Given the description of an element on the screen output the (x, y) to click on. 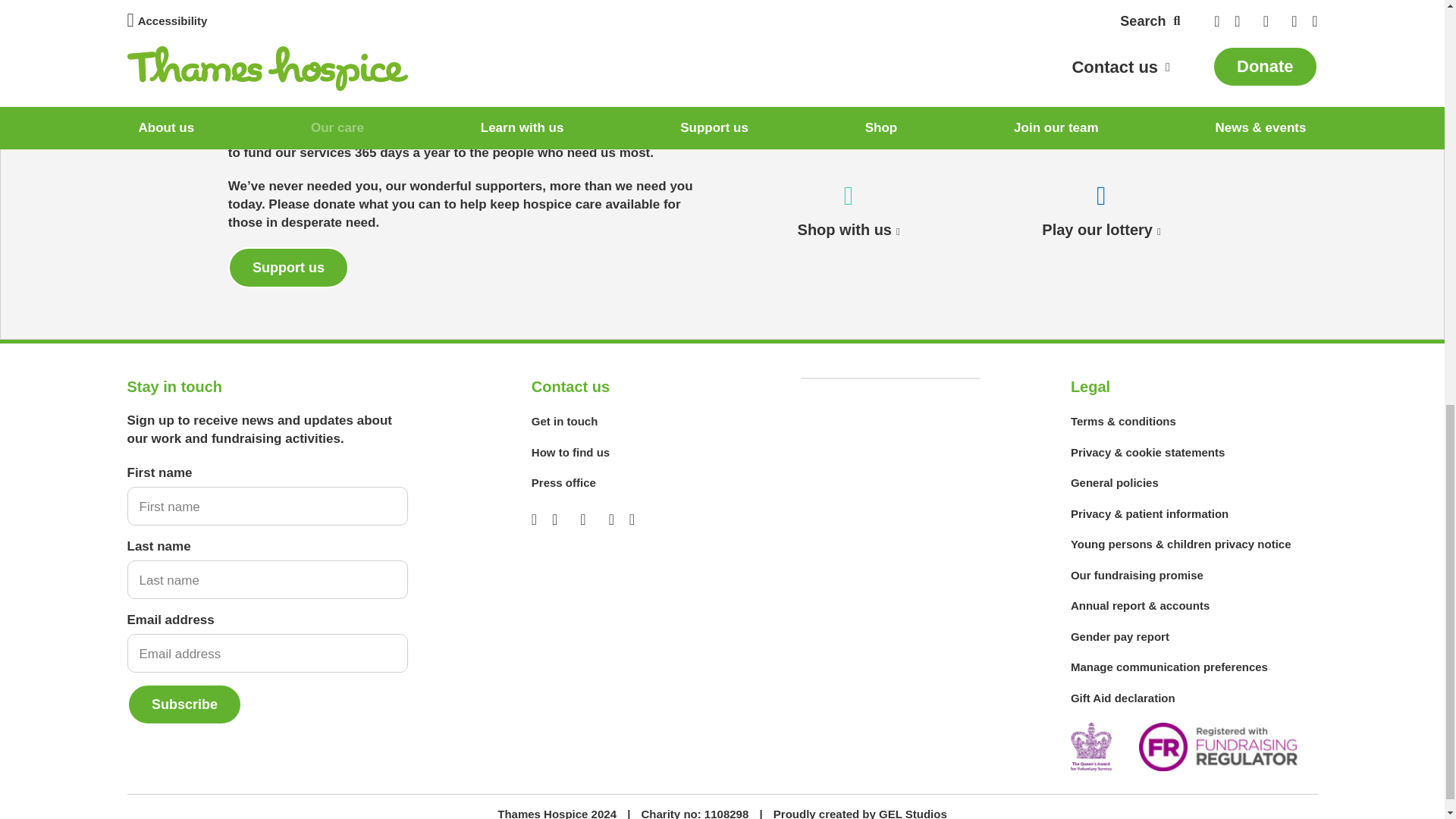
Award winning website design Swindon (913, 813)
